Given the description of an element on the screen output the (x, y) to click on. 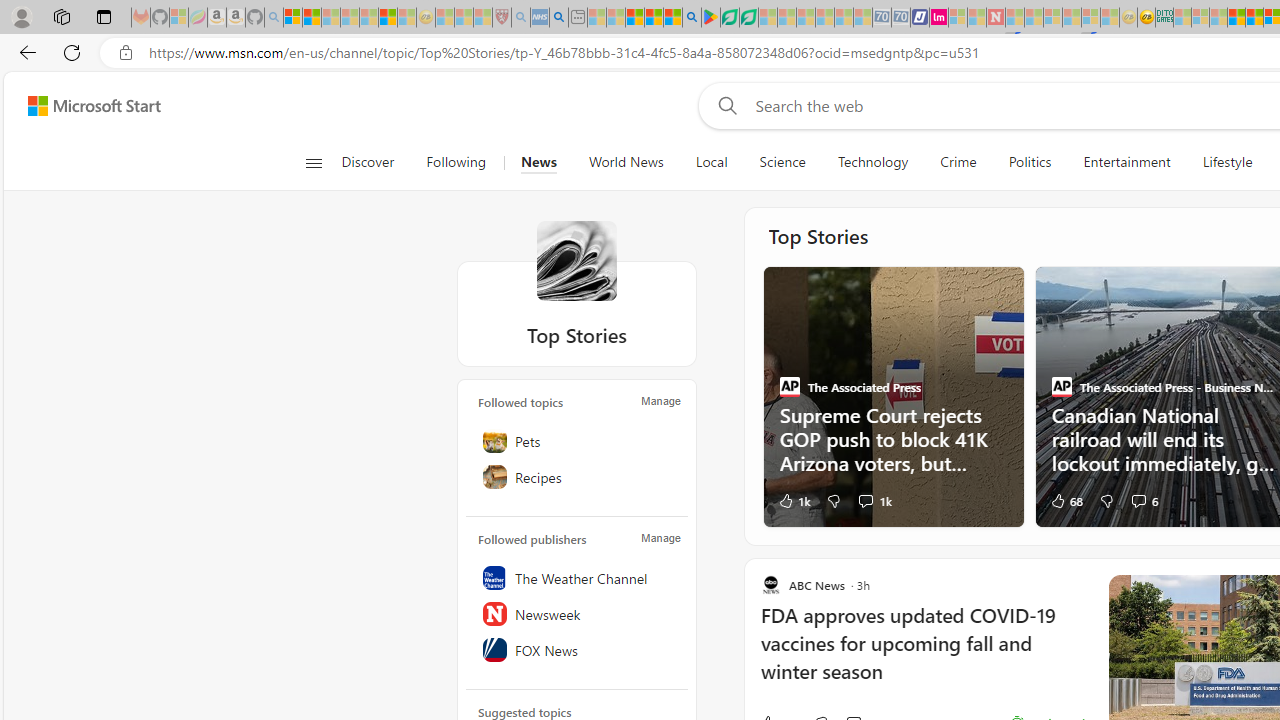
FOX News (577, 649)
68 Like (1065, 500)
